Given the description of an element on the screen output the (x, y) to click on. 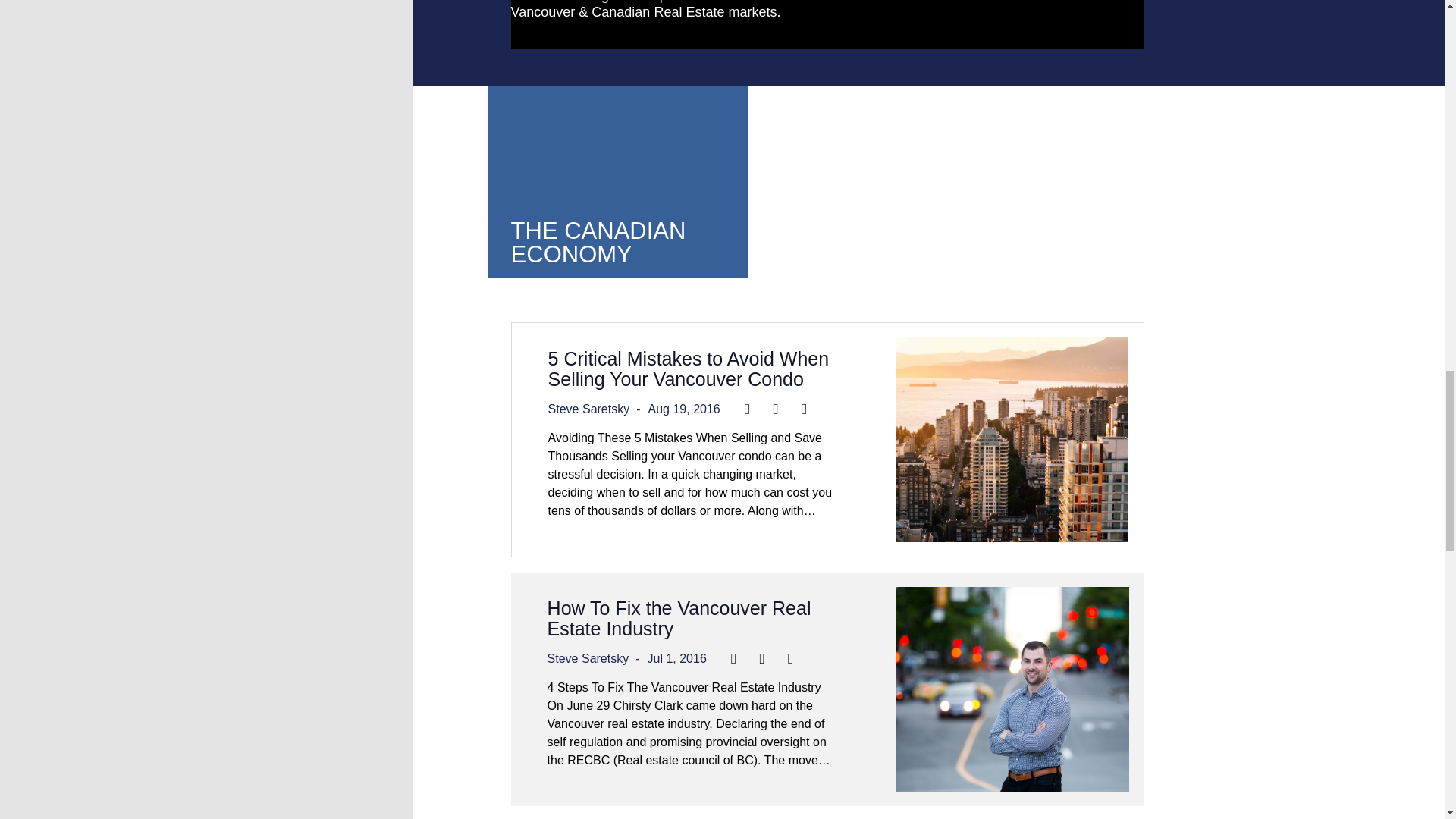
How To Fix the Vancouver Real Estate Industry (678, 618)
